Given the description of an element on the screen output the (x, y) to click on. 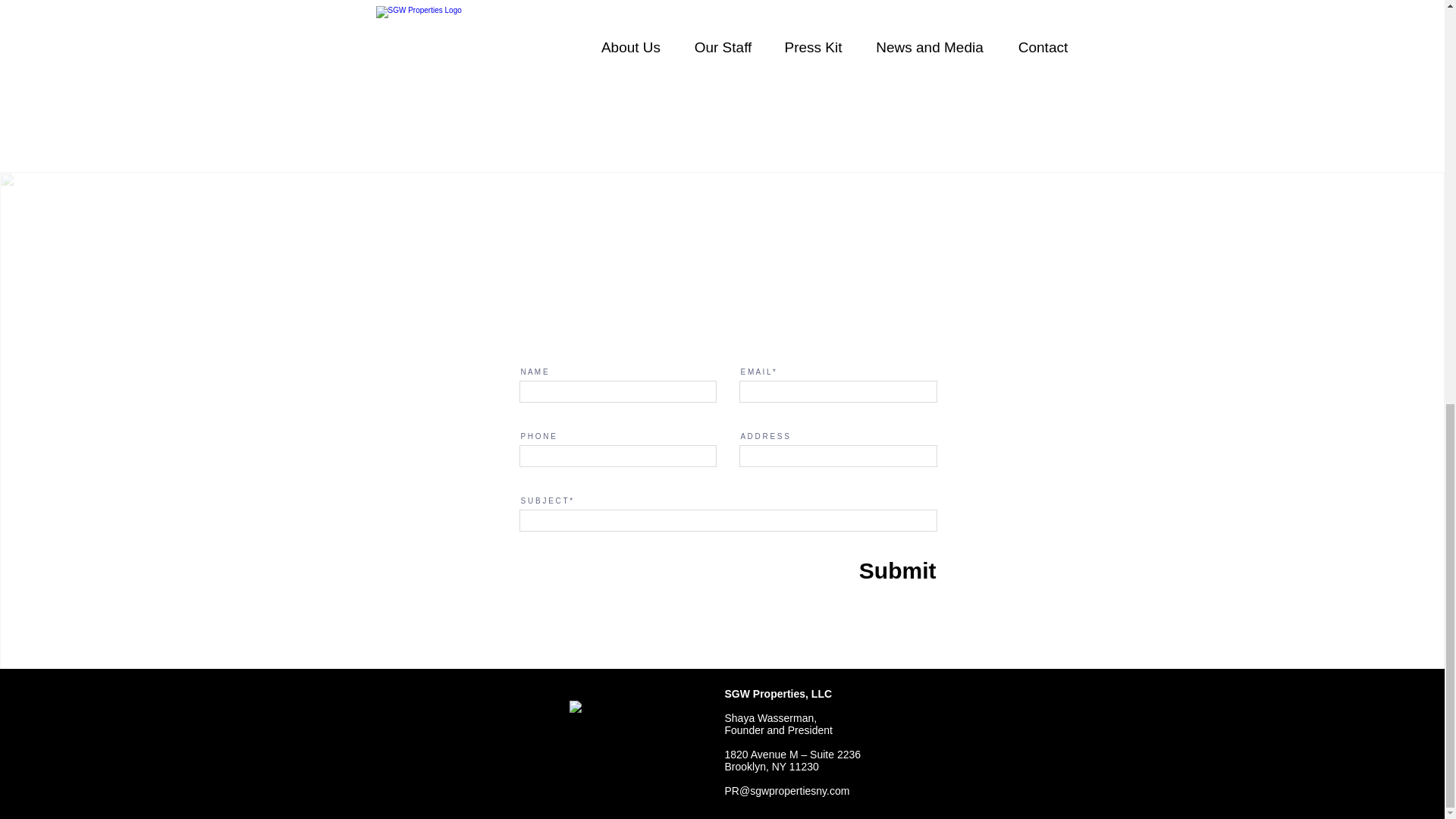
Submit (866, 570)
